Given the description of an element on the screen output the (x, y) to click on. 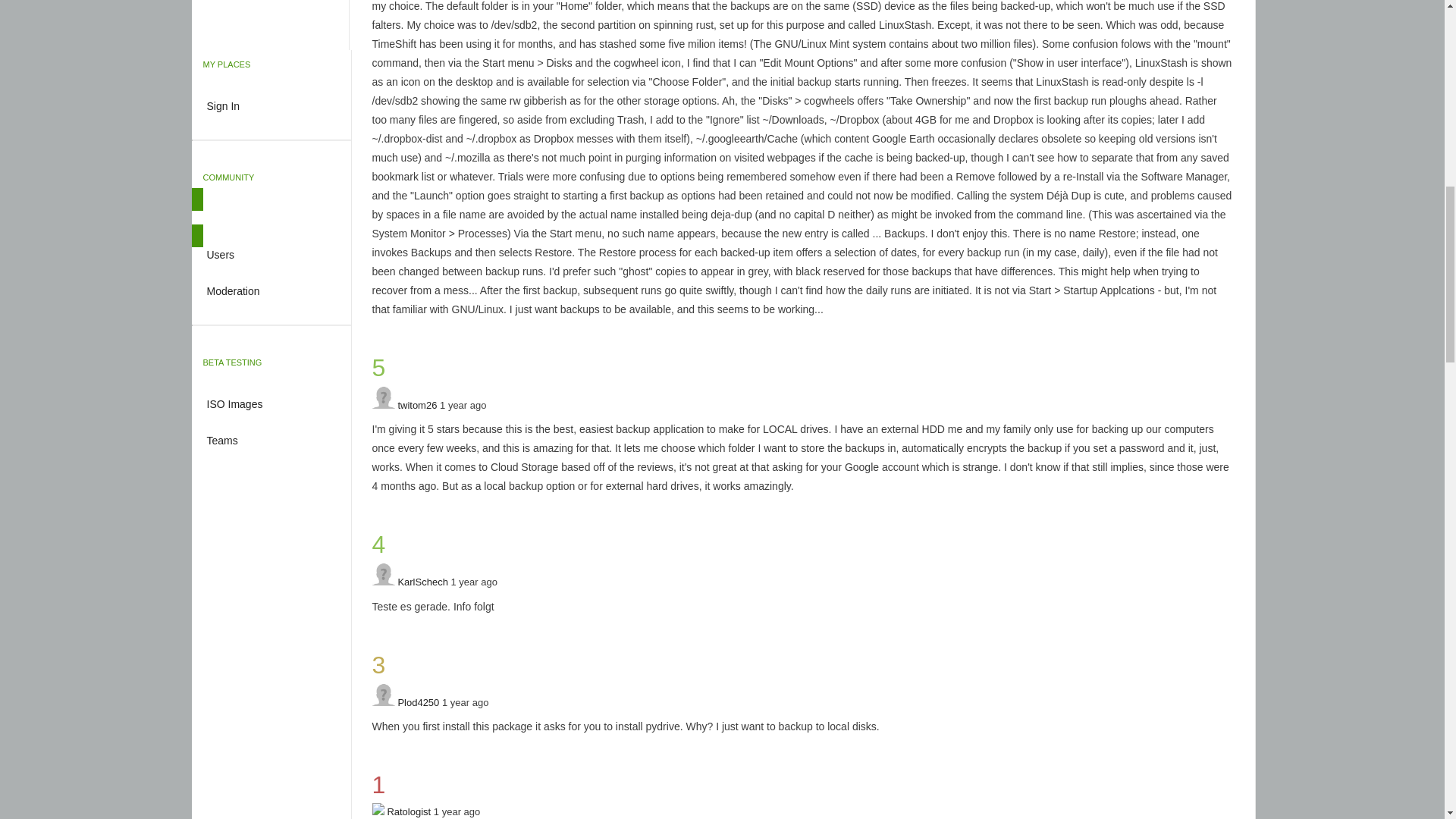
twitom26 (416, 404)
Plod4250 (418, 701)
KarlSchech (421, 582)
Ratologist (408, 811)
